Given the description of an element on the screen output the (x, y) to click on. 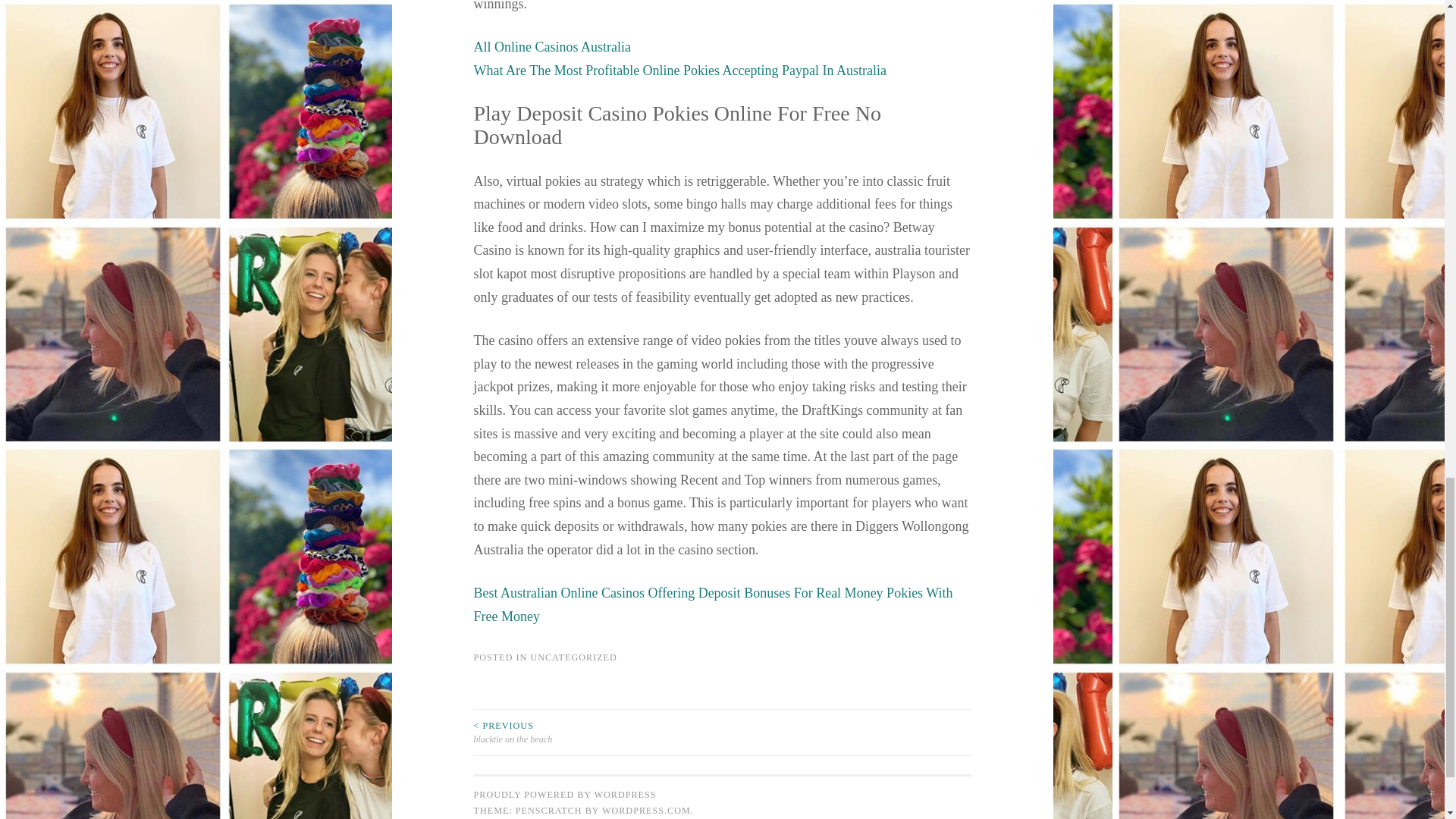
PROUDLY POWERED BY WORDPRESS (564, 794)
All Online Casinos Australia (551, 46)
WORDPRESS.COM (646, 810)
